Given the description of an element on the screen output the (x, y) to click on. 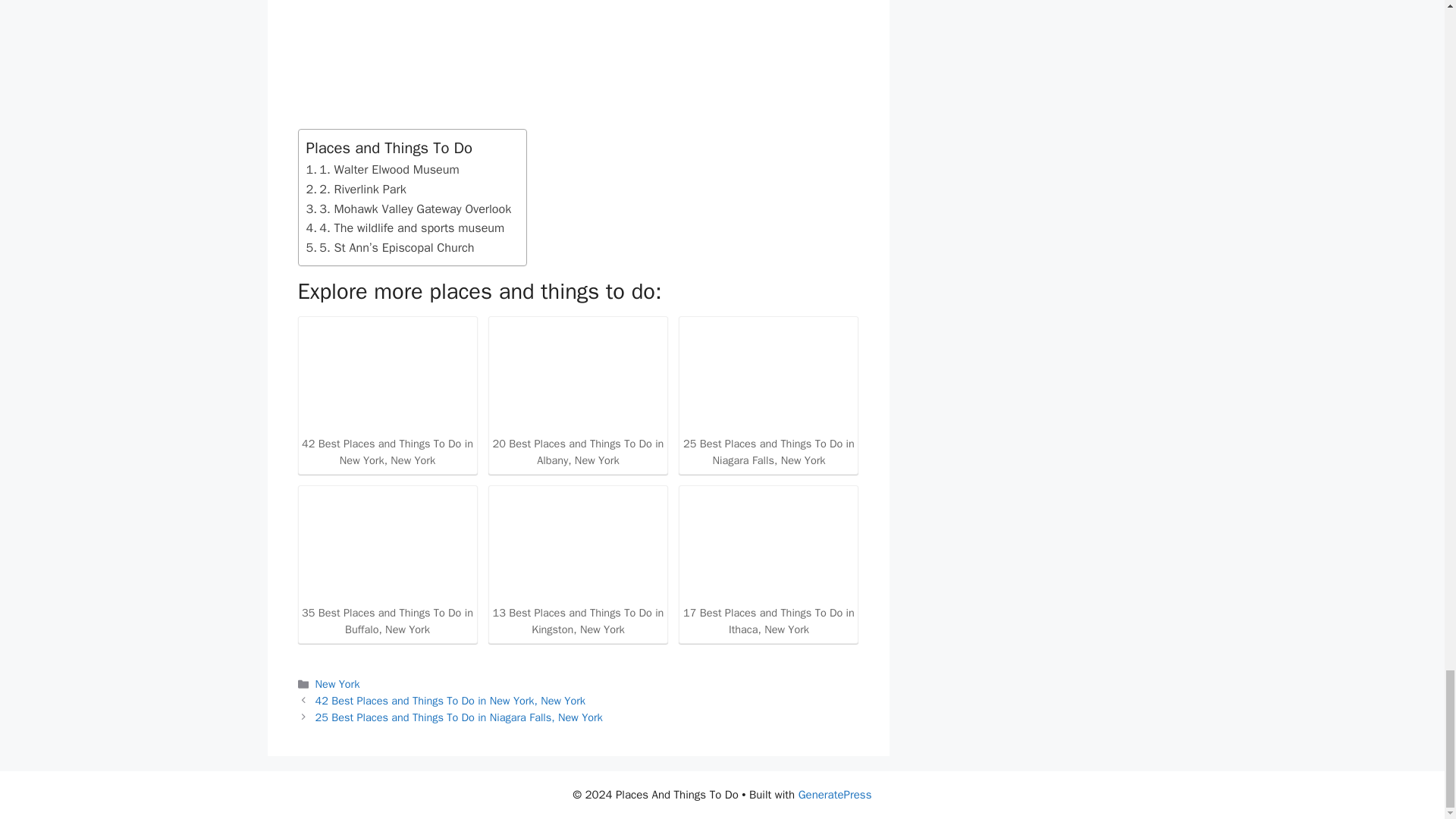
4. The wildlife and sports museum (405, 228)
42 Best Places and Things To Do in New York, New York (386, 411)
2. Riverlink Park (355, 189)
25 Best Places and Things To Do in Niagara Falls, New York (768, 376)
17 Best Places and Things To Do in Ithaca, New York (768, 544)
20 Best Places and Things To Do in Albany, New York (577, 376)
1. Walter Elwood Museum (382, 169)
13 Best Places and Things To Do in Kingston, New York (577, 544)
3. Mohawk Valley Gateway Overlook (408, 209)
New York (337, 684)
